Given the description of an element on the screen output the (x, y) to click on. 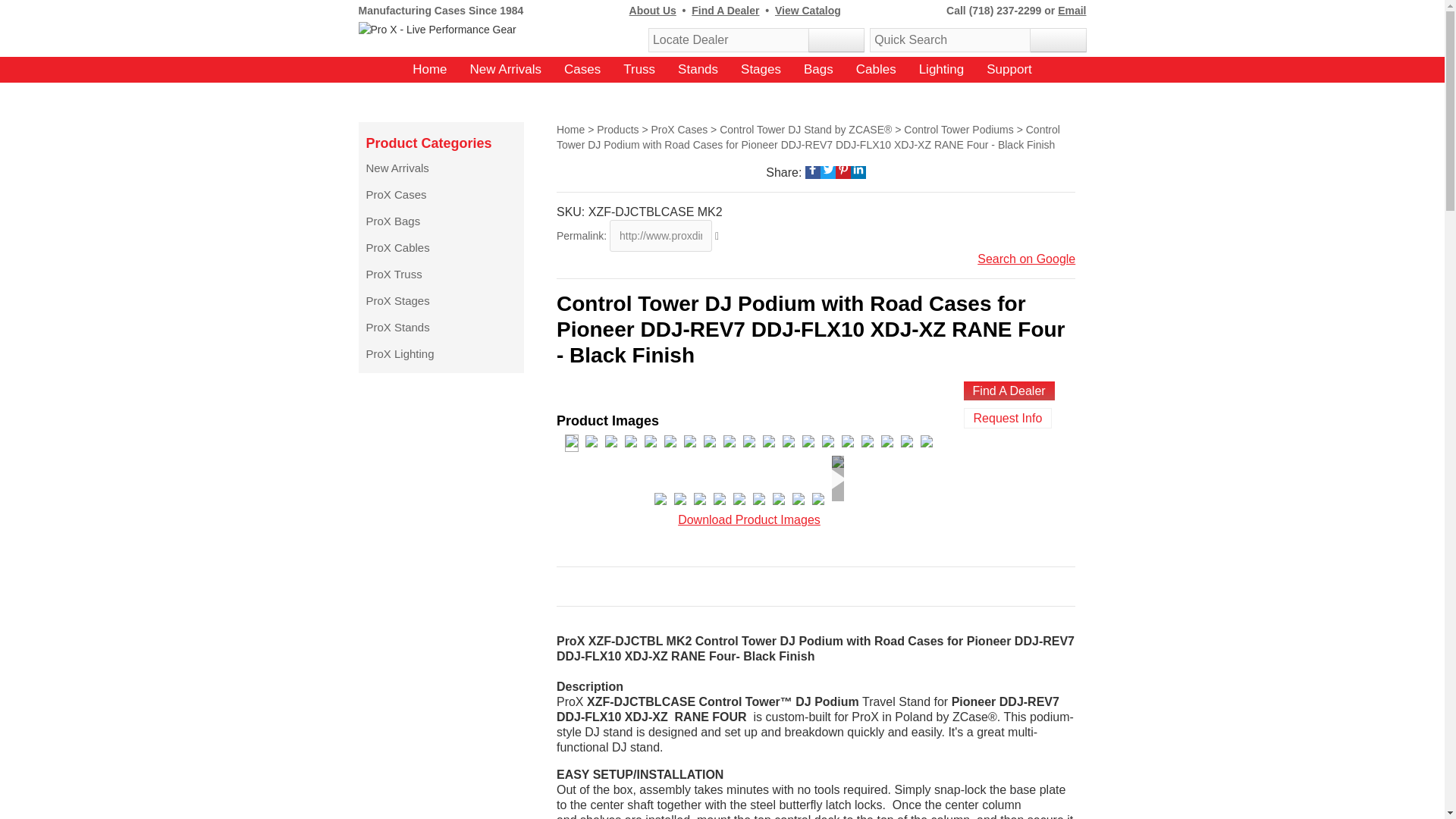
About Us (652, 10)
Email (1072, 10)
View Catalog (807, 10)
Find A Dealer (724, 10)
LinkedIn (858, 168)
Facebook (813, 168)
New Arrivals (505, 69)
Home (429, 69)
Cases (581, 69)
Twitter (828, 168)
Pinterest (842, 168)
Truss (639, 69)
